Given the description of an element on the screen output the (x, y) to click on. 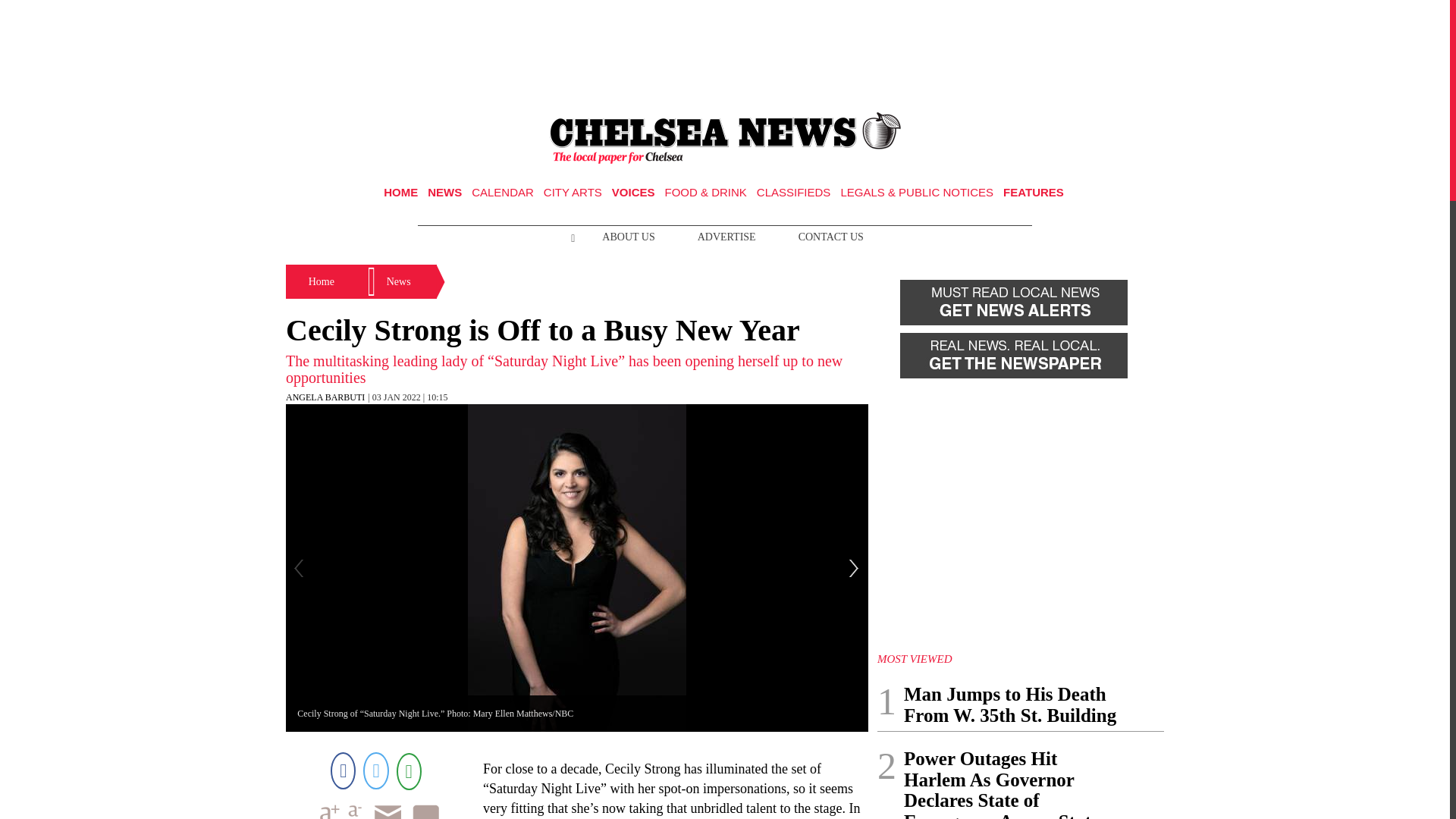
CALENDAR (502, 192)
NEWS (444, 192)
CONTACT US (831, 236)
VOICES (633, 192)
3rd party ad content (724, 49)
ABOUT US (627, 236)
ADVERTISE (726, 236)
CITY ARTS (572, 192)
HOME (400, 192)
CLASSIFIEDS (794, 192)
FEATURES (1033, 192)
